Given the description of an element on the screen output the (x, y) to click on. 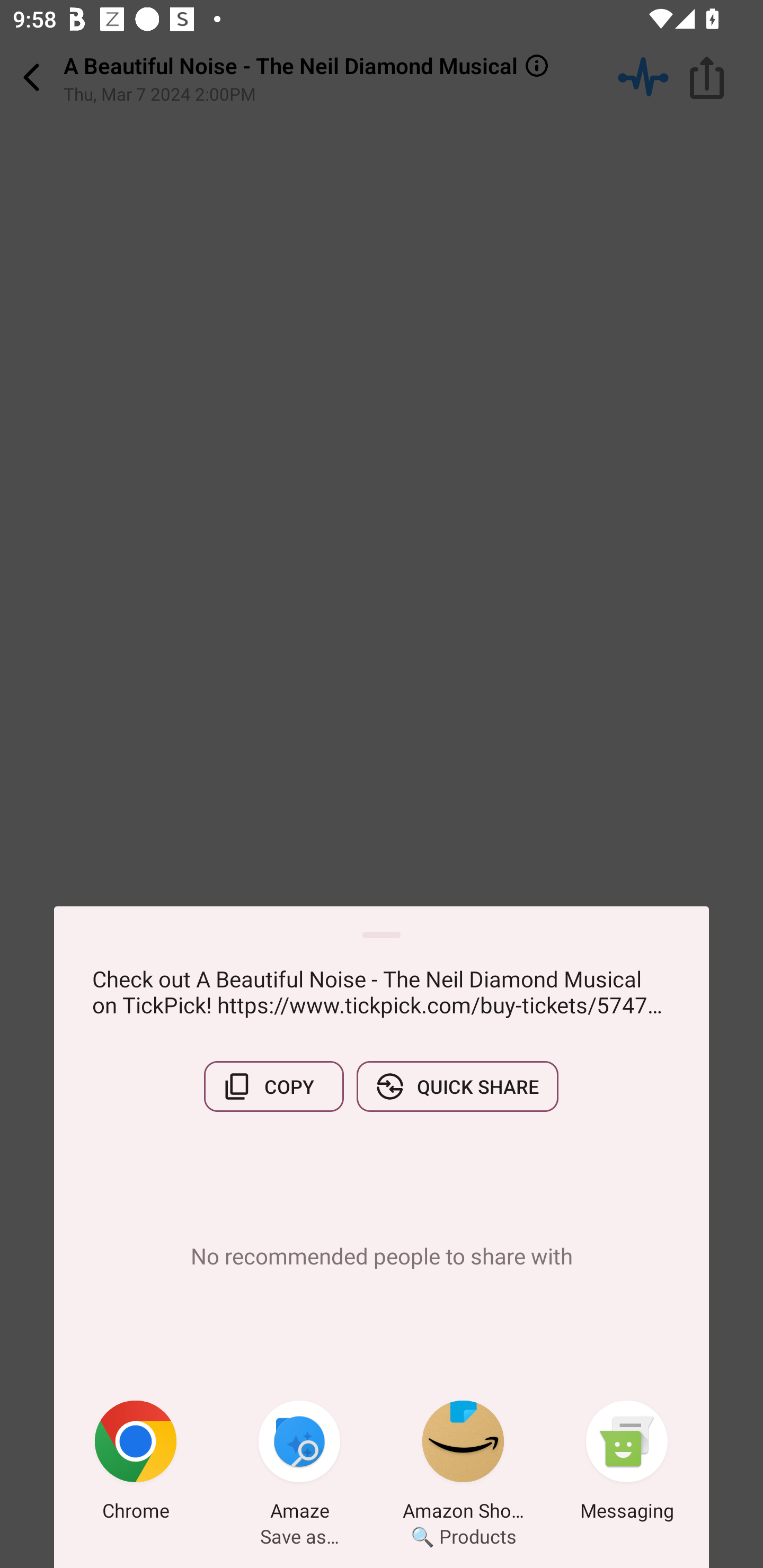
COPY (273, 1086)
QUICK SHARE (457, 1086)
Chrome (135, 1463)
Amaze Save as… (299, 1463)
Amazon Shopping 🔍 Products (463, 1463)
Messaging (626, 1463)
